Given the description of an element on the screen output the (x, y) to click on. 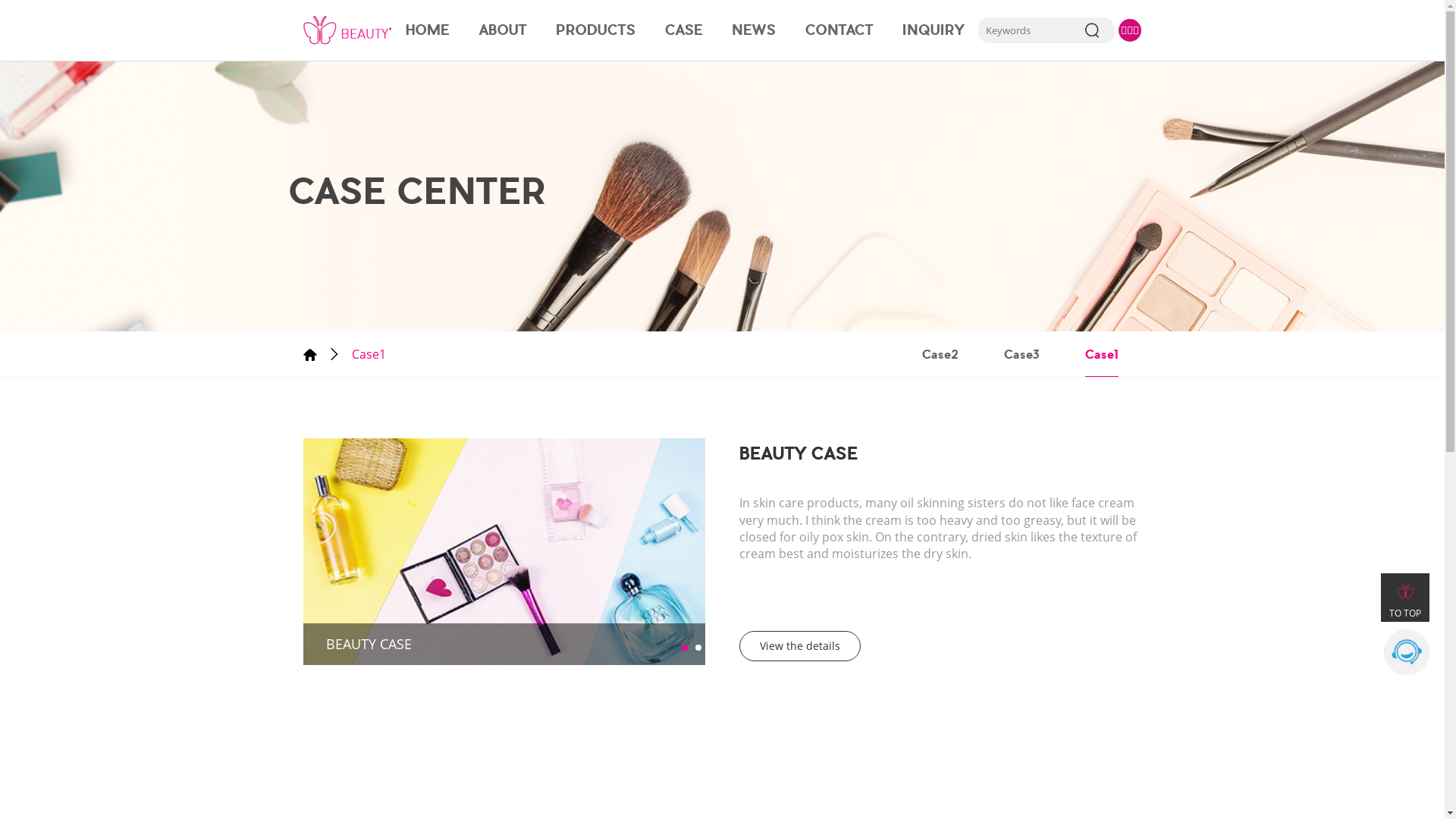
NEWS Element type: text (753, 29)
Case1 Element type: text (1101, 353)
INQUIRY Element type: text (932, 29)
CONTACT Element type: text (839, 29)
ABOUT Element type: text (503, 29)
PRODUCTS Element type: text (595, 29)
Skype Element type: hover (1406, 651)
HOME Element type: text (427, 29)
Case2 Element type: text (940, 353)
Case3 Element type: text (1021, 353)
SIGN UP Element type: text (1091, 29)
View the details Element type: text (799, 645)
CASE Element type: text (683, 29)
